Given the description of an element on the screen output the (x, y) to click on. 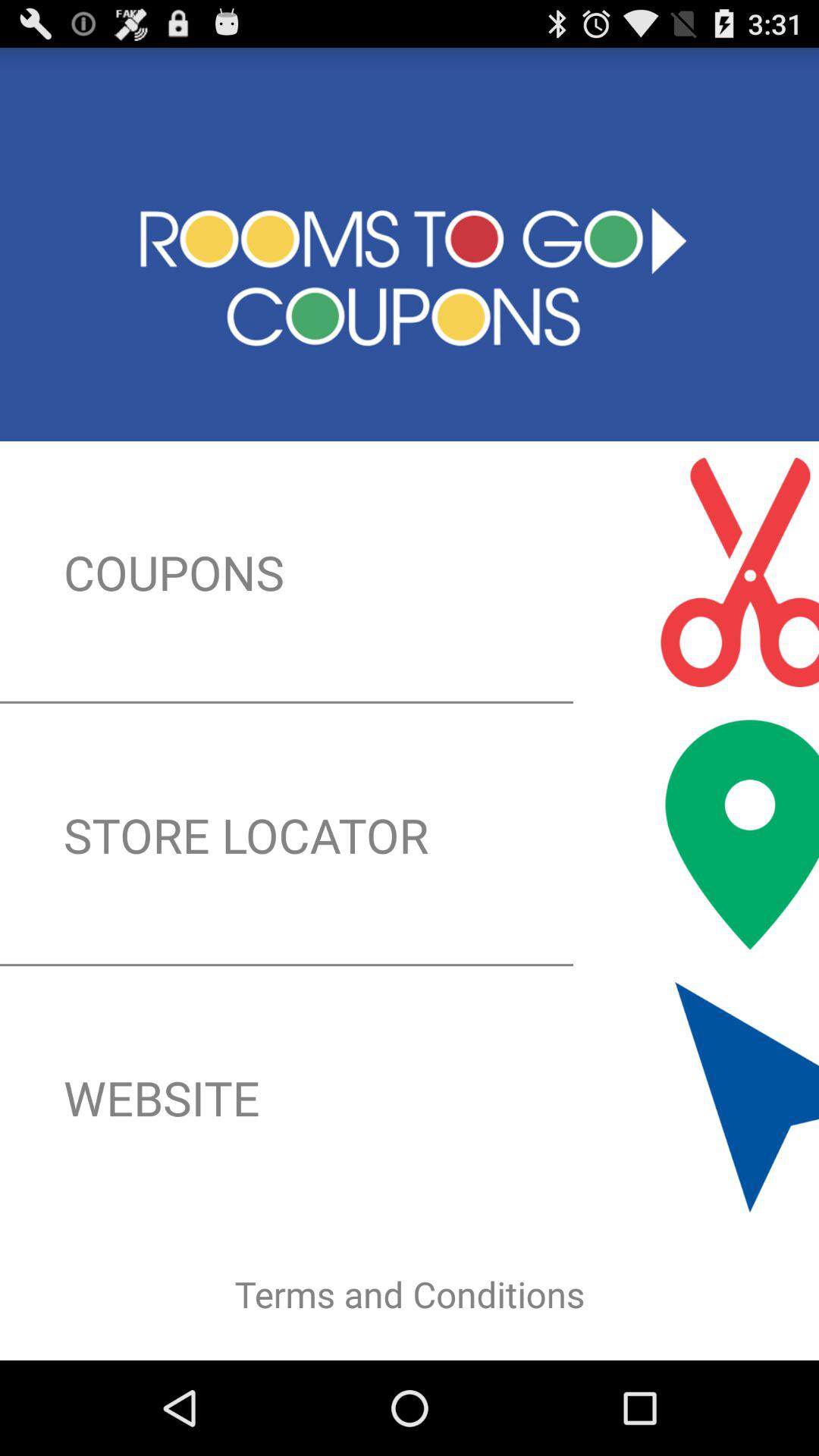
flip until terms and conditions (409, 1294)
